Given the description of an element on the screen output the (x, y) to click on. 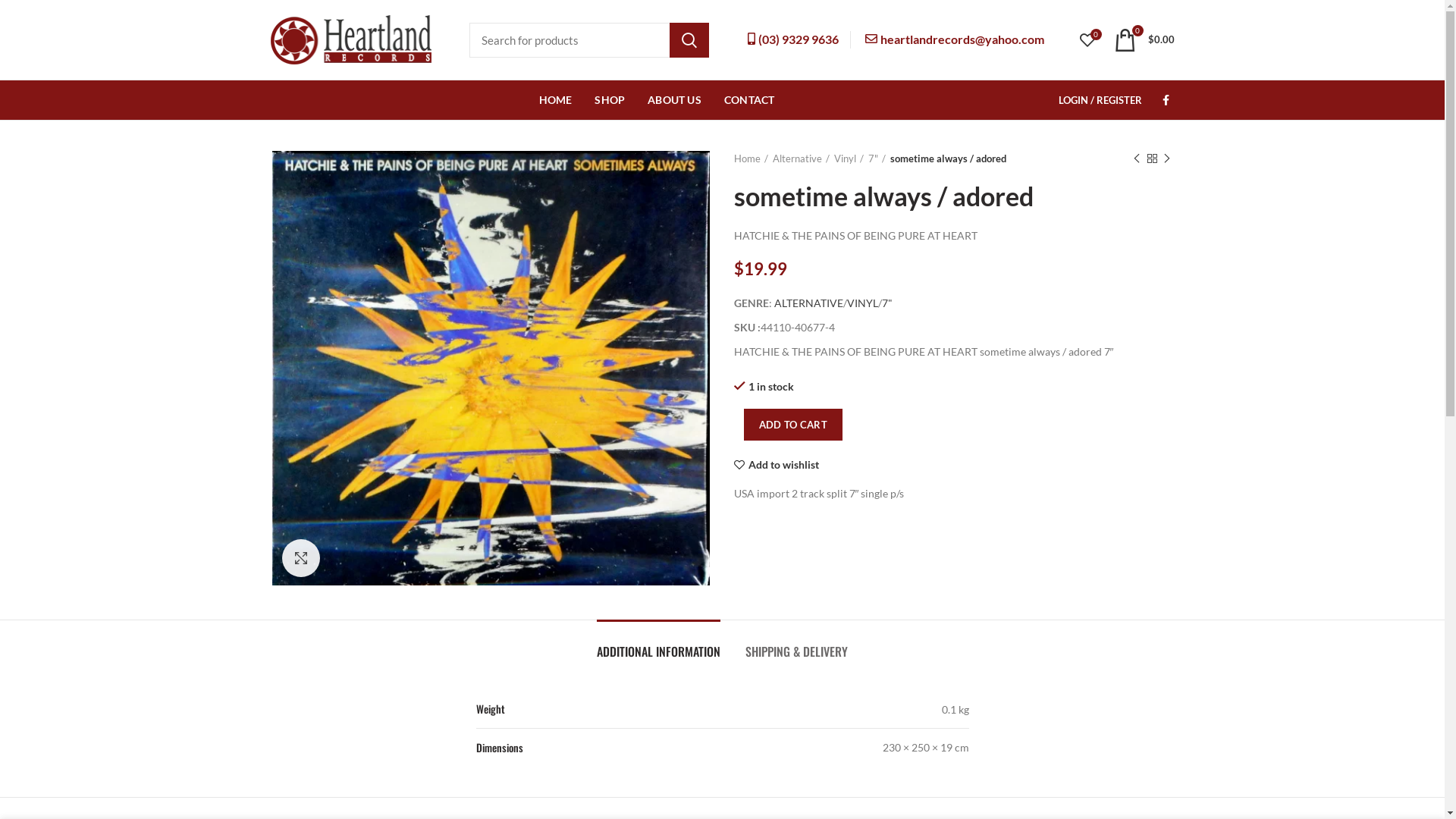
heartlandrecords@yahoo.com Element type: text (954, 38)
LOGIN / REGISTER Element type: text (1100, 99)
ABOUT US Element type: text (674, 99)
0
$0.00 Element type: text (1143, 39)
SHIPPING & DELIVERY Element type: text (796, 643)
HOME Element type: text (555, 99)
ALTERNATIVE Element type: text (807, 302)
7" Element type: text (886, 302)
0 Element type: text (1087, 39)
SEARCH Element type: text (689, 39)
Previous product Element type: text (1135, 158)
SHOP Element type: text (609, 99)
Add to wishlist Element type: text (776, 464)
CONTACT Element type: text (748, 99)
Home Element type: text (751, 158)
7" Element type: text (875, 158)
VINYL Element type: text (861, 302)
ADDITIONAL INFORMATION Element type: text (658, 643)
Next product Element type: text (1165, 158)
ADD TO CART Element type: text (792, 424)
Alternative Element type: text (799, 158)
(03) 9329 9636 Element type: text (792, 38)
Vinyl Element type: text (848, 158)
hatchie-pains-of-being-pure-7-front Element type: hover (490, 367)
Facebook Element type: text (1165, 99)
